Given the description of an element on the screen output the (x, y) to click on. 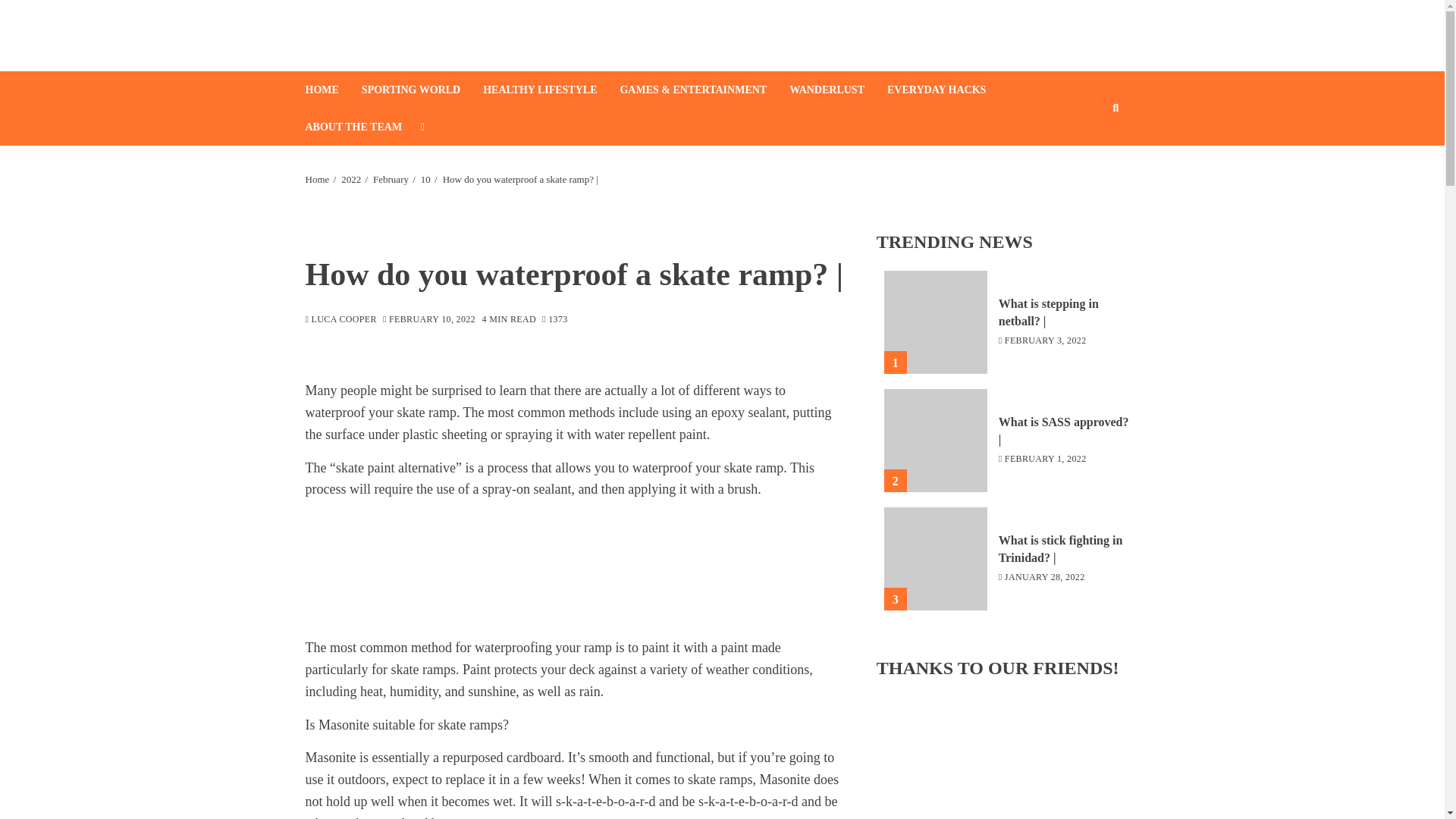
2022 (350, 179)
1373 (554, 319)
ABOUT THE TEAM (364, 126)
LUCA COOPER (339, 319)
Search (1092, 154)
February (390, 179)
EVERYDAY HACKS (947, 89)
HEALTHY LIFESTYLE (551, 89)
HOME (332, 89)
Home (316, 179)
WANDERLUST (837, 89)
SPORTING WORLD (422, 89)
